Given the description of an element on the screen output the (x, y) to click on. 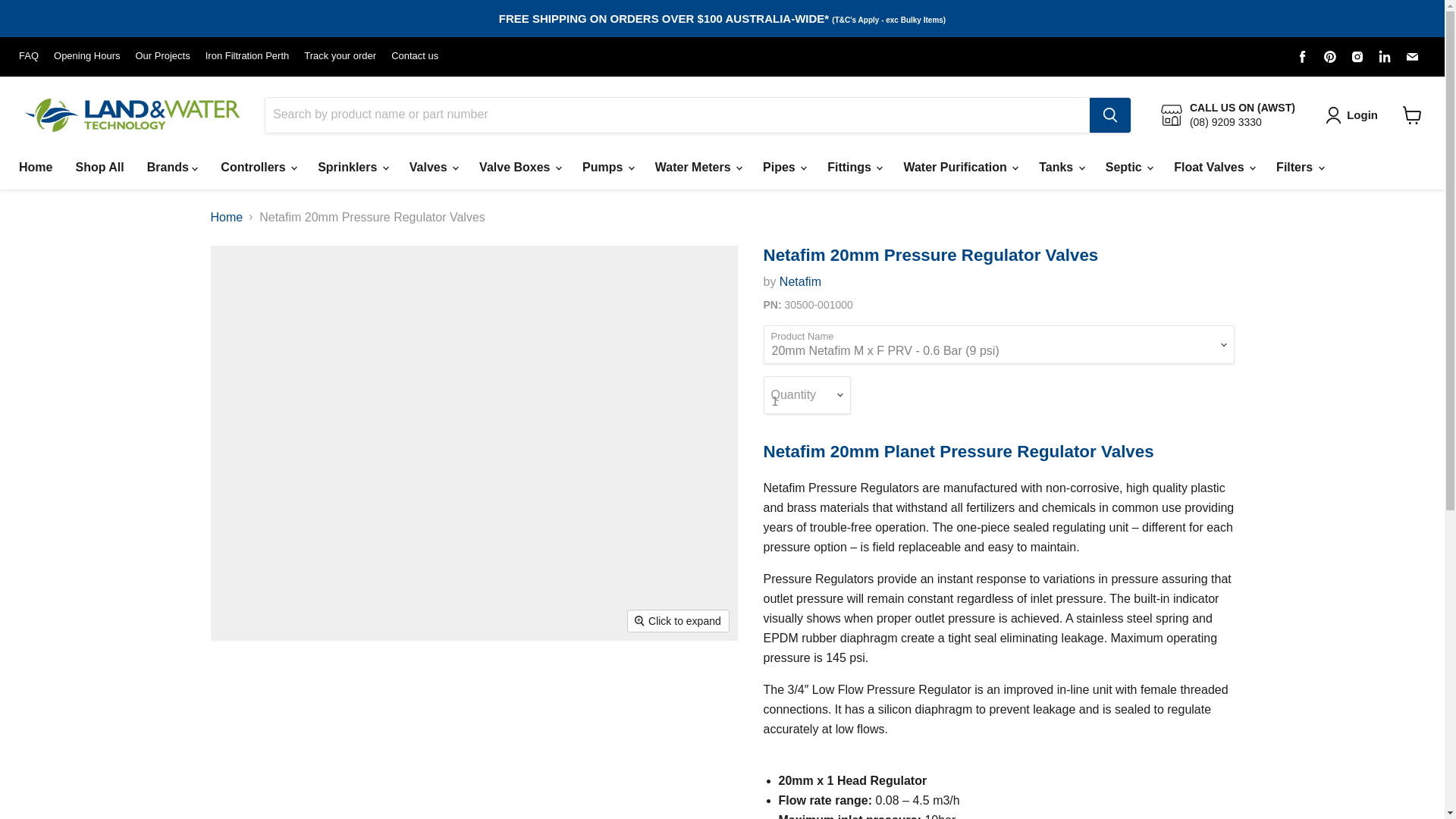
View cart (1411, 114)
Track your order (339, 56)
Iron Filtration Perth (247, 56)
Find us on Pinterest (1329, 55)
Find us on LinkedIn (1384, 55)
Facebook (1302, 55)
Our Projects (162, 56)
Find us on Instagram (1357, 55)
Contact us (414, 56)
Find us on Facebook (1302, 55)
Find us on Email (1411, 55)
FAQ (28, 56)
Netafim (799, 281)
Shop All (99, 167)
Instagram (1357, 55)
